Given the description of an element on the screen output the (x, y) to click on. 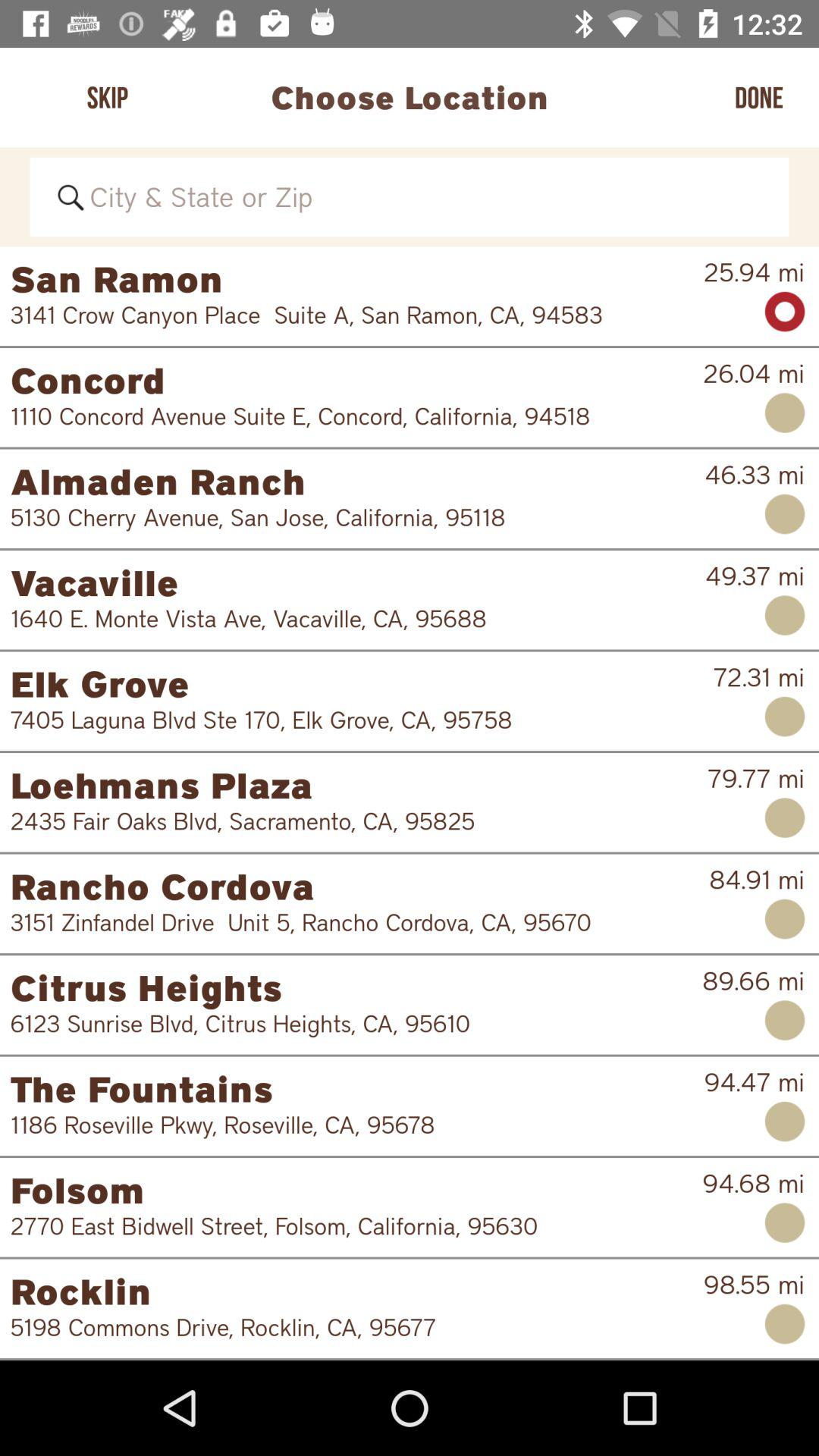
open the loehmans plaza item (358, 785)
